Given the description of an element on the screen output the (x, y) to click on. 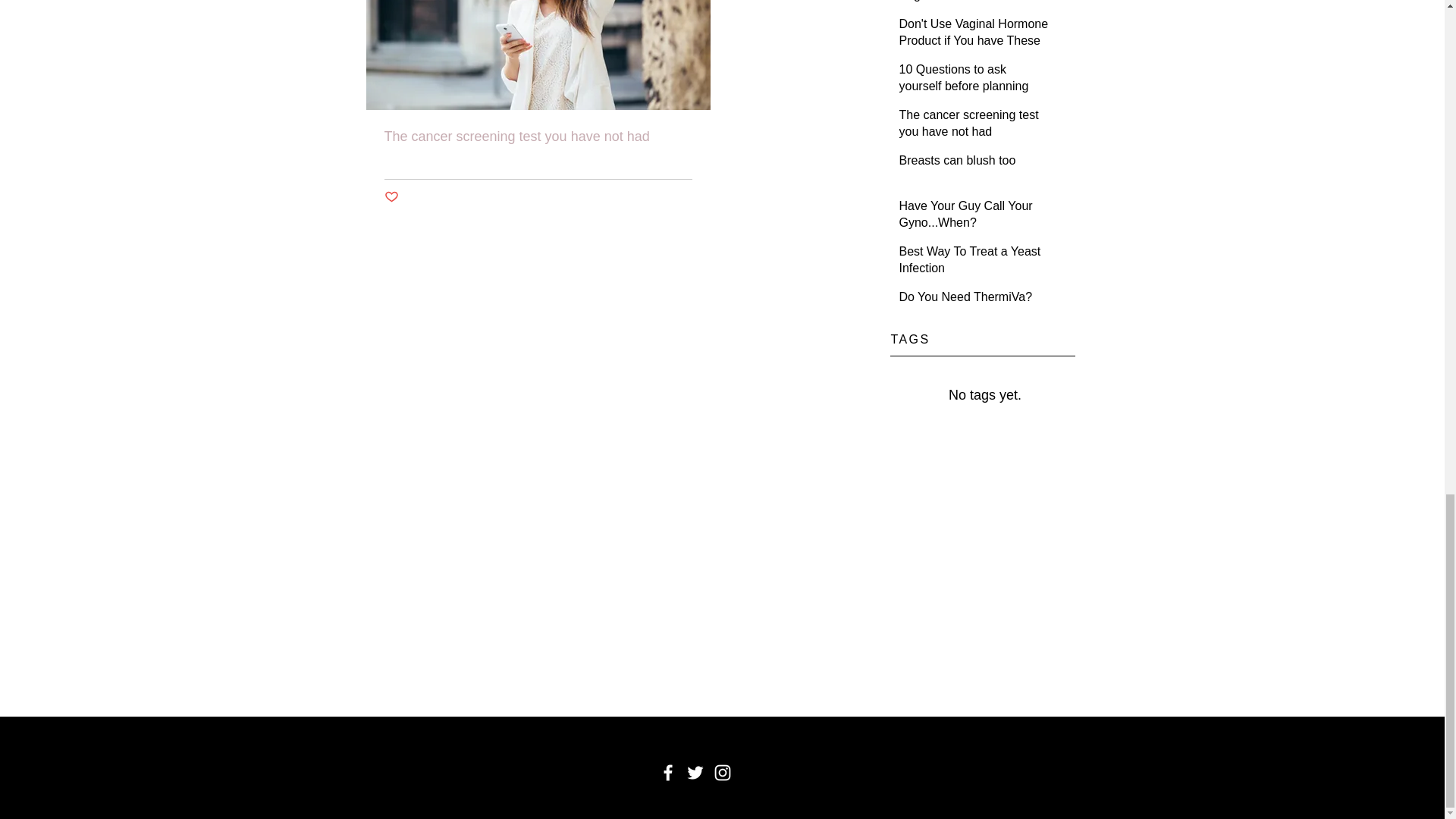
Post not marked as liked (390, 197)
Announcing New Blog Pages! (975, 5)
Breasts can blush too (975, 163)
The cancer screening test you have not had (537, 136)
Don't Use Vaginal Hormone Product if You have These Things (975, 43)
The cancer screening test you have not had (975, 127)
